Given the description of an element on the screen output the (x, y) to click on. 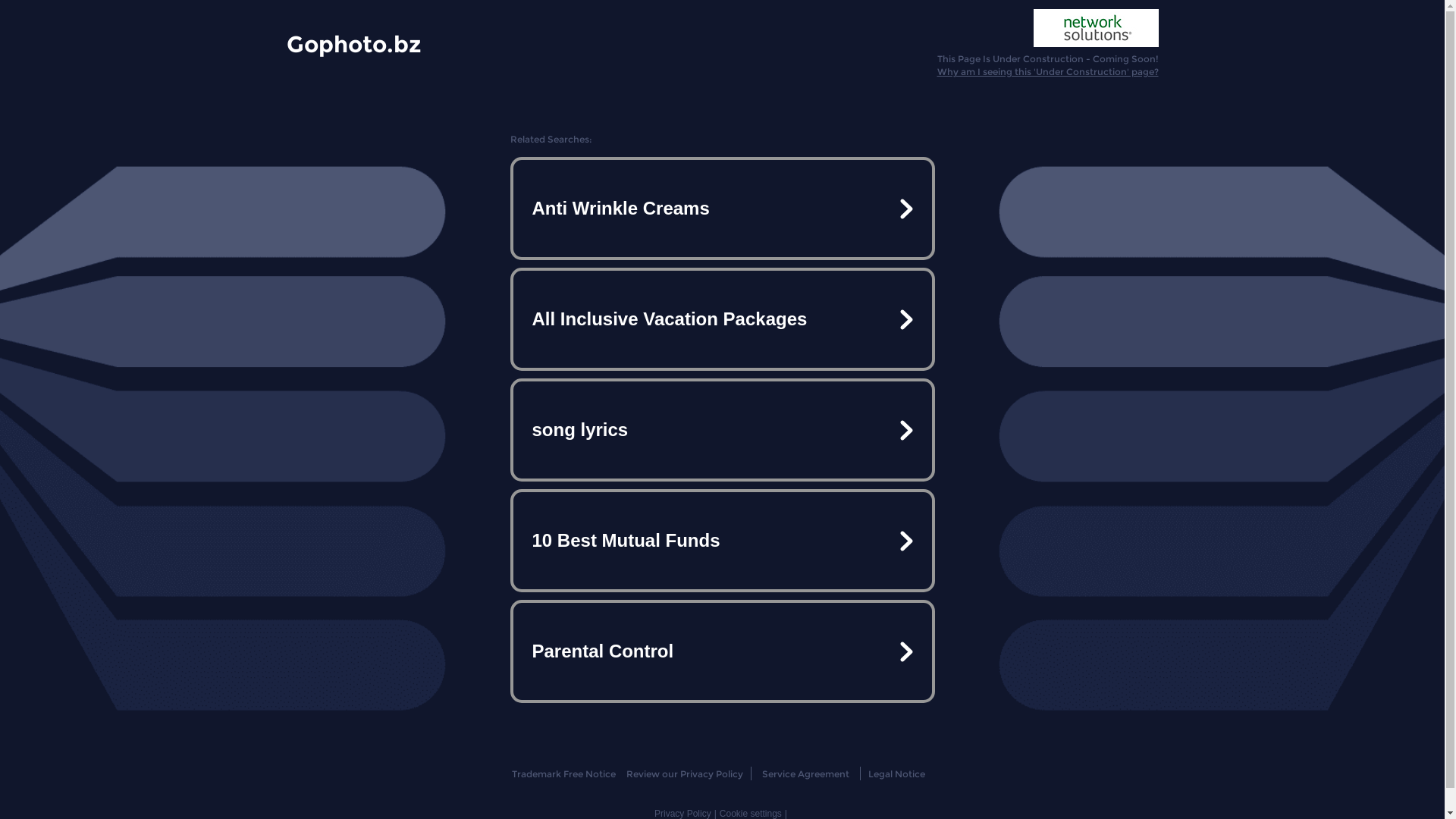
Service Agreement Element type: text (805, 773)
10 Best Mutual Funds Element type: text (721, 540)
Why am I seeing this 'Under Construction' page? Element type: text (1047, 71)
All Inclusive Vacation Packages Element type: text (721, 318)
Legal Notice Element type: text (896, 773)
Review our Privacy Policy Element type: text (684, 773)
Gophoto.bz Element type: text (353, 43)
Anti Wrinkle Creams Element type: text (721, 208)
Parental Control Element type: text (721, 650)
song lyrics Element type: text (721, 429)
Trademark Free Notice Element type: text (563, 773)
